Given the description of an element on the screen output the (x, y) to click on. 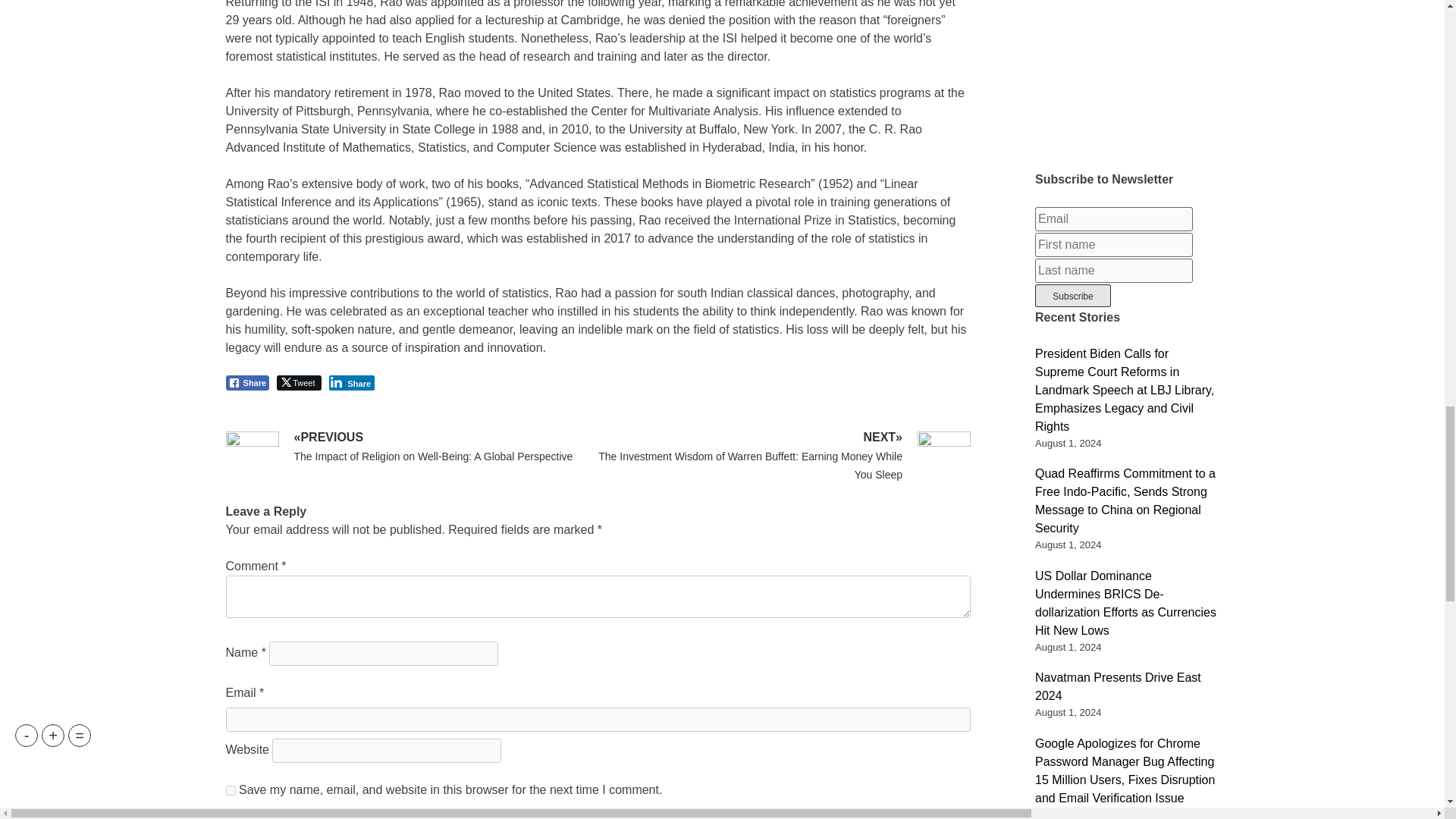
Subscribe (1072, 295)
yes (230, 790)
